Given the description of an element on the screen output the (x, y) to click on. 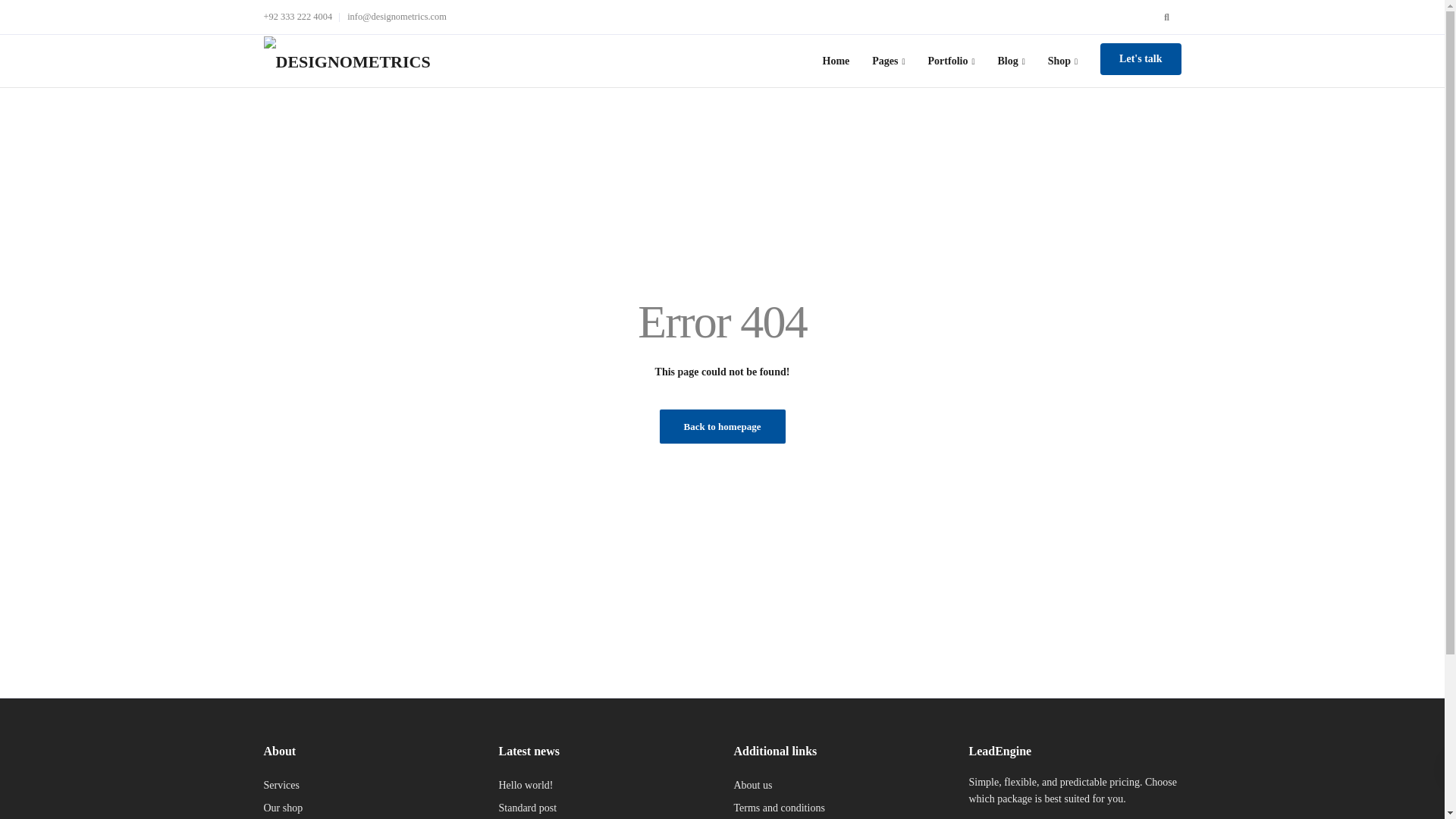
Pages (887, 60)
Pages (887, 60)
Home (835, 60)
Home (835, 60)
